Given the description of an element on the screen output the (x, y) to click on. 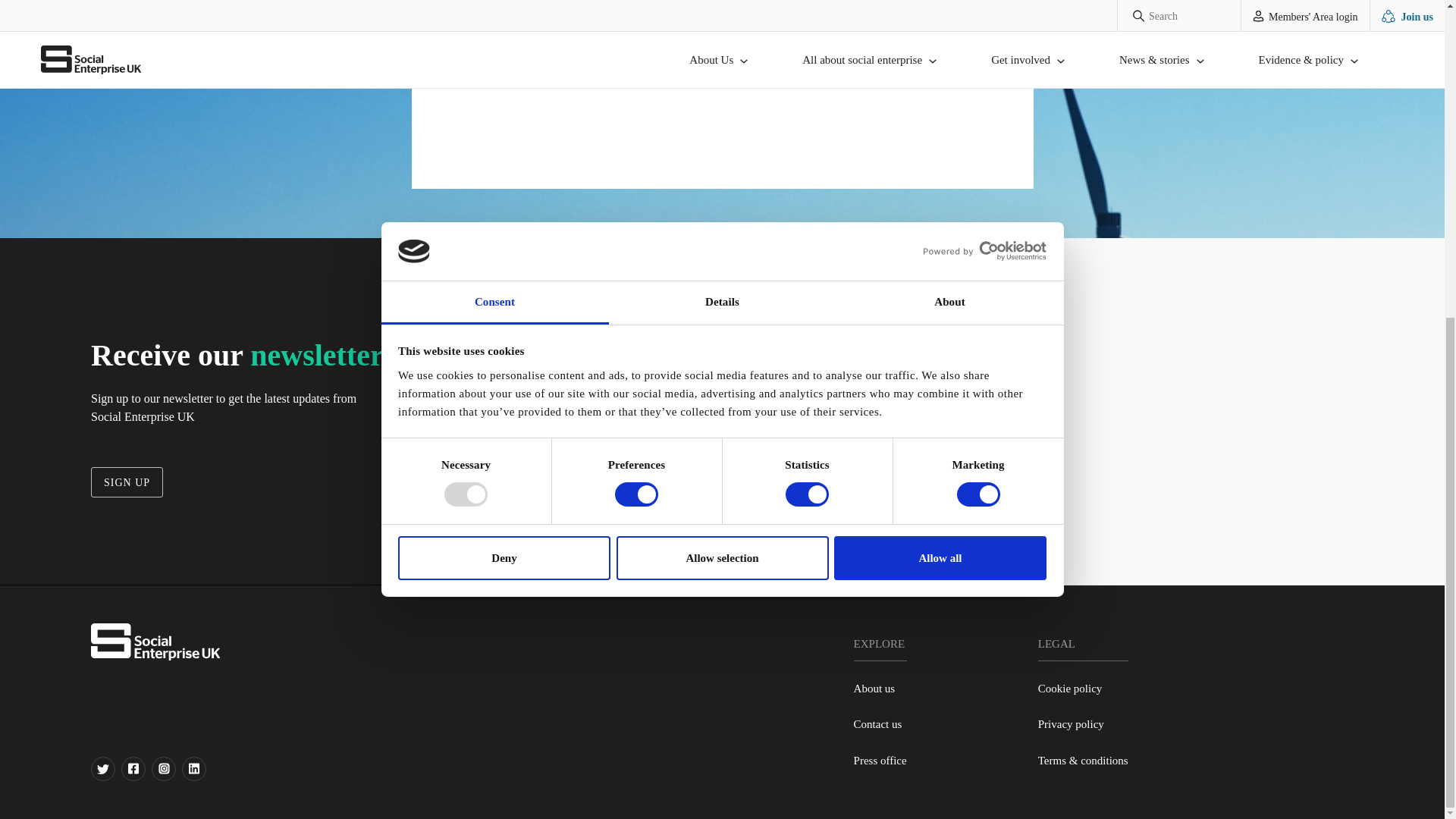
Follow us on Facebook (132, 768)
Follow us on Twitter (102, 768)
